Given the description of an element on the screen output the (x, y) to click on. 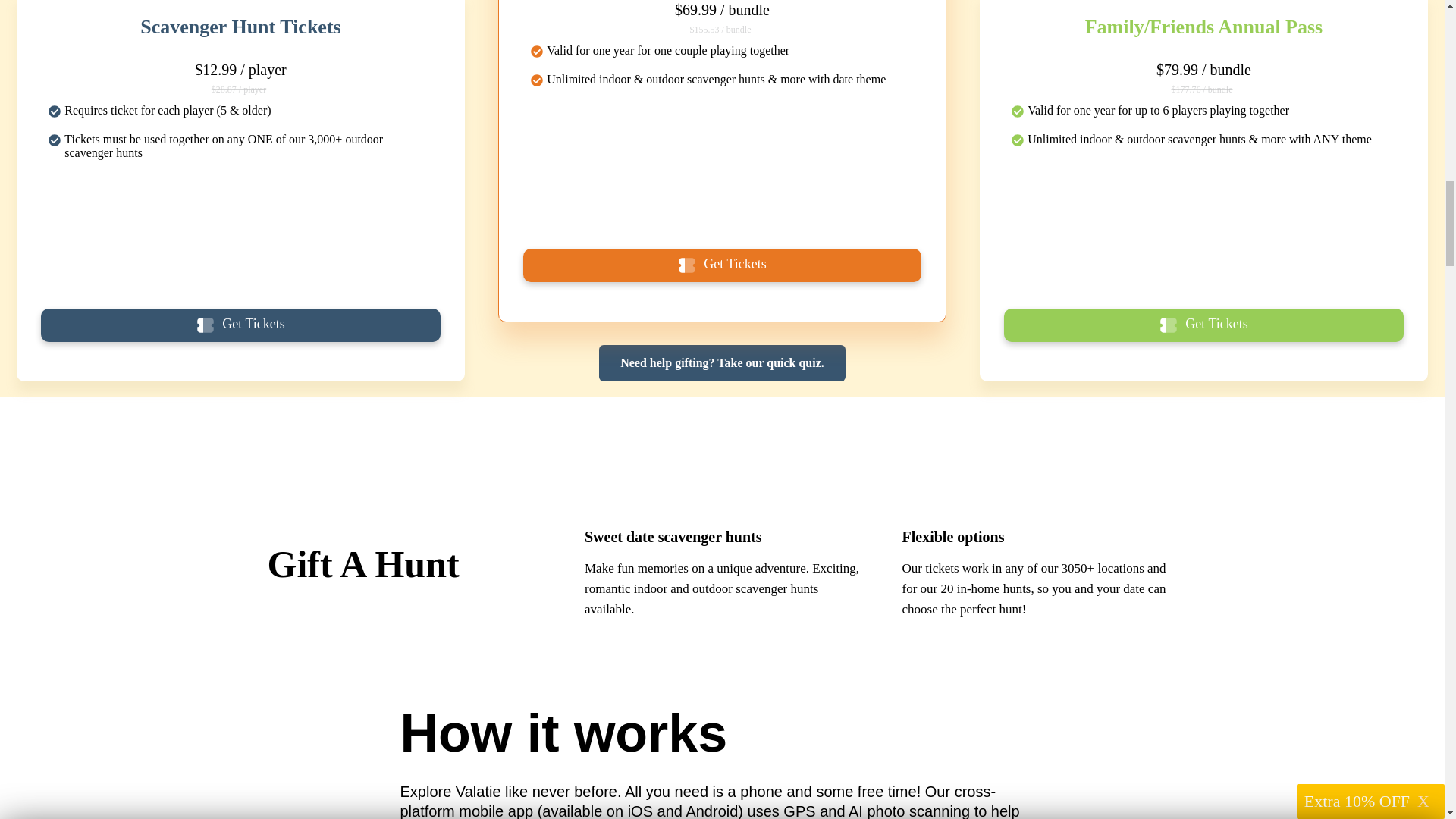
Need help gifting? Take our quick quiz. (721, 362)
